Given the description of an element on the screen output the (x, y) to click on. 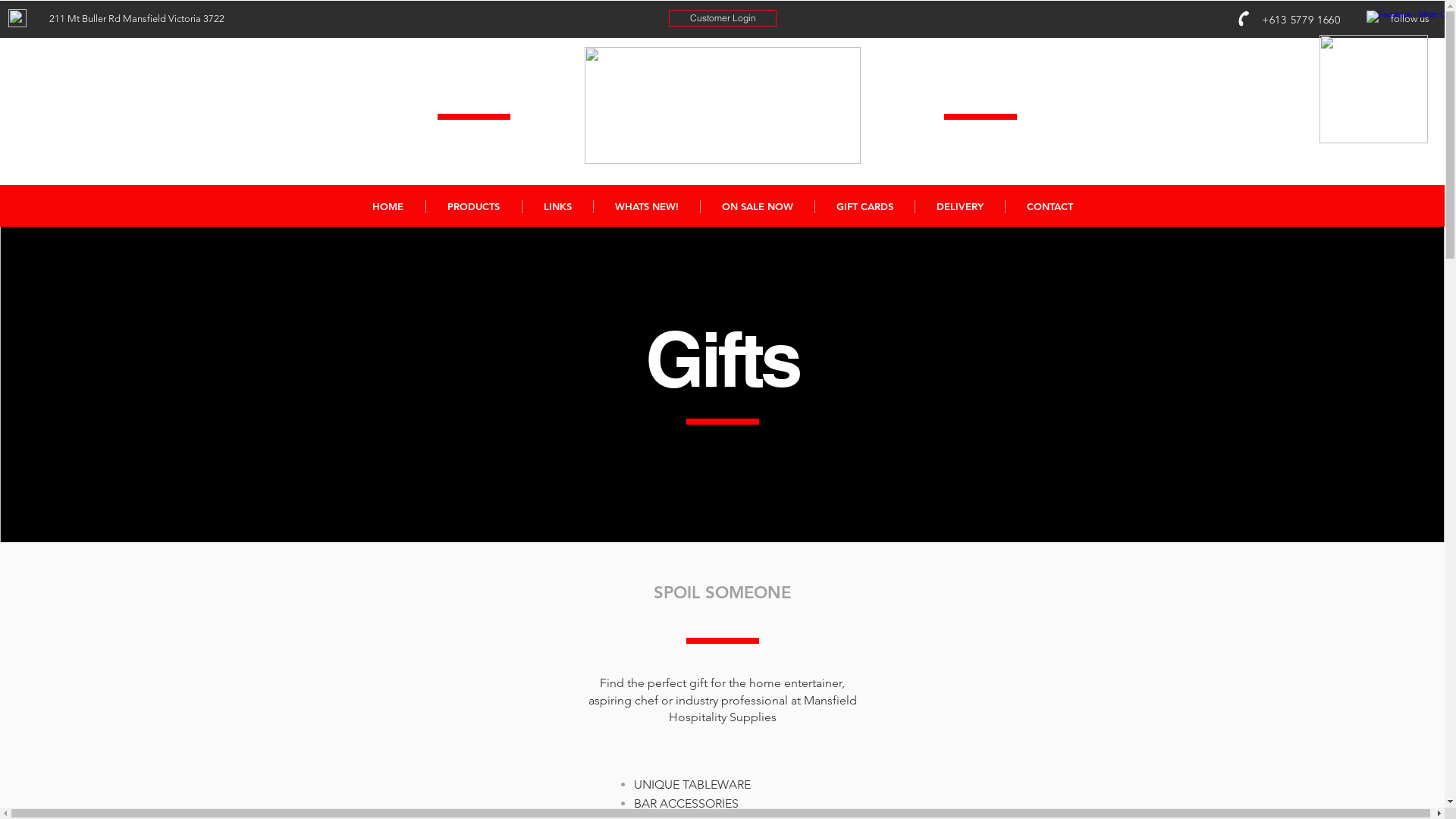
HOME Element type: text (387, 206)
GIFT CARDS Element type: text (864, 206)
WHATS NEW! Element type: text (646, 206)
Customer Login Element type: text (722, 17)
ON SALE NOW Element type: text (756, 206)
CONTACT Element type: text (1048, 206)
DELIVERY Element type: text (959, 206)
LINKS Element type: text (557, 206)
